Given the description of an element on the screen output the (x, y) to click on. 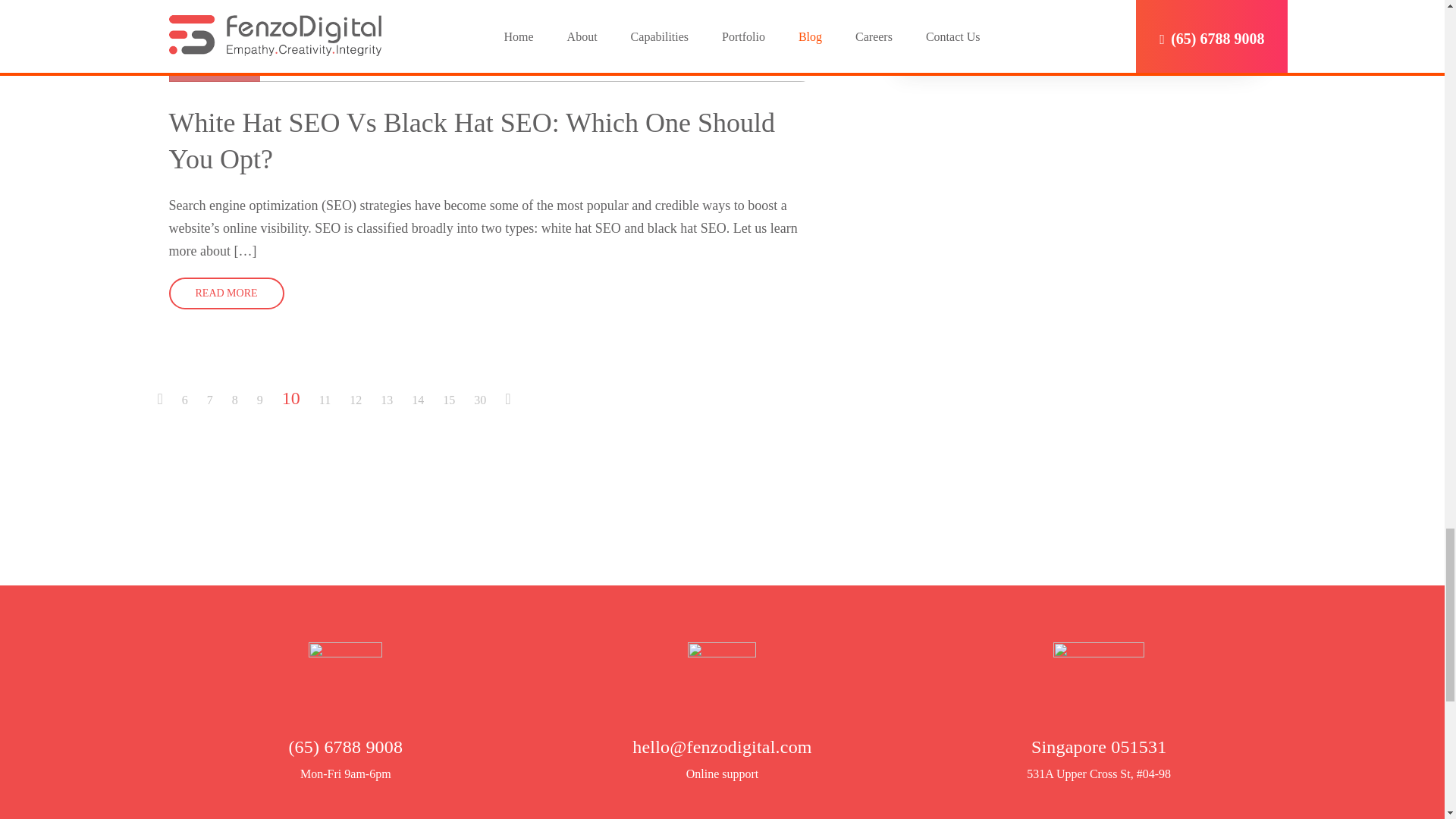
Page 30 (470, 400)
Page 11 (314, 400)
Page 14 (408, 400)
Page 8 (225, 400)
Page 7 (199, 400)
Page 13 (377, 400)
Page 9 (250, 400)
Page 12 (345, 400)
Page 15 (438, 400)
Page 6 (175, 400)
